Given the description of an element on the screen output the (x, y) to click on. 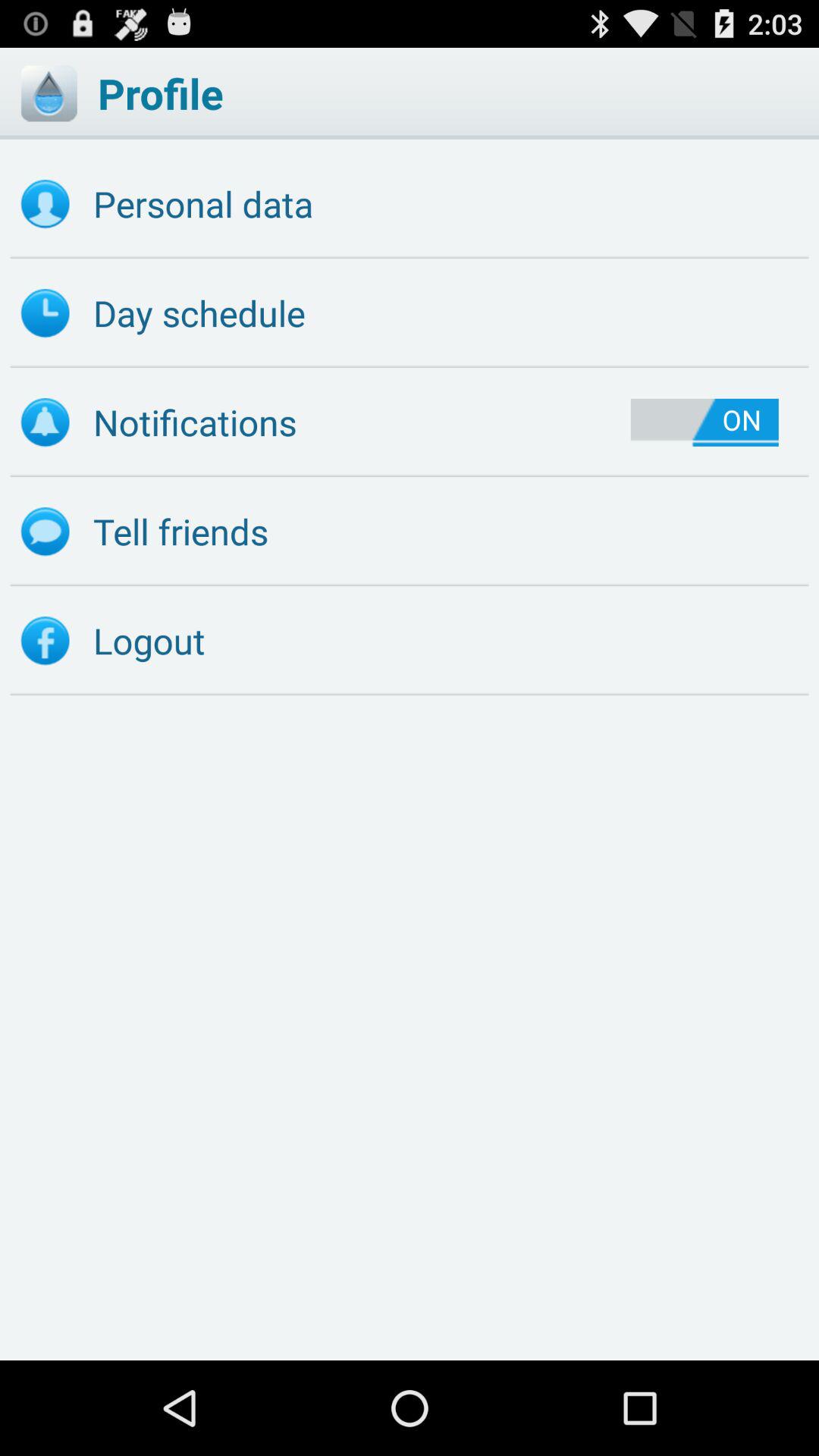
press item to the left of profile app (48, 93)
